Given the description of an element on the screen output the (x, y) to click on. 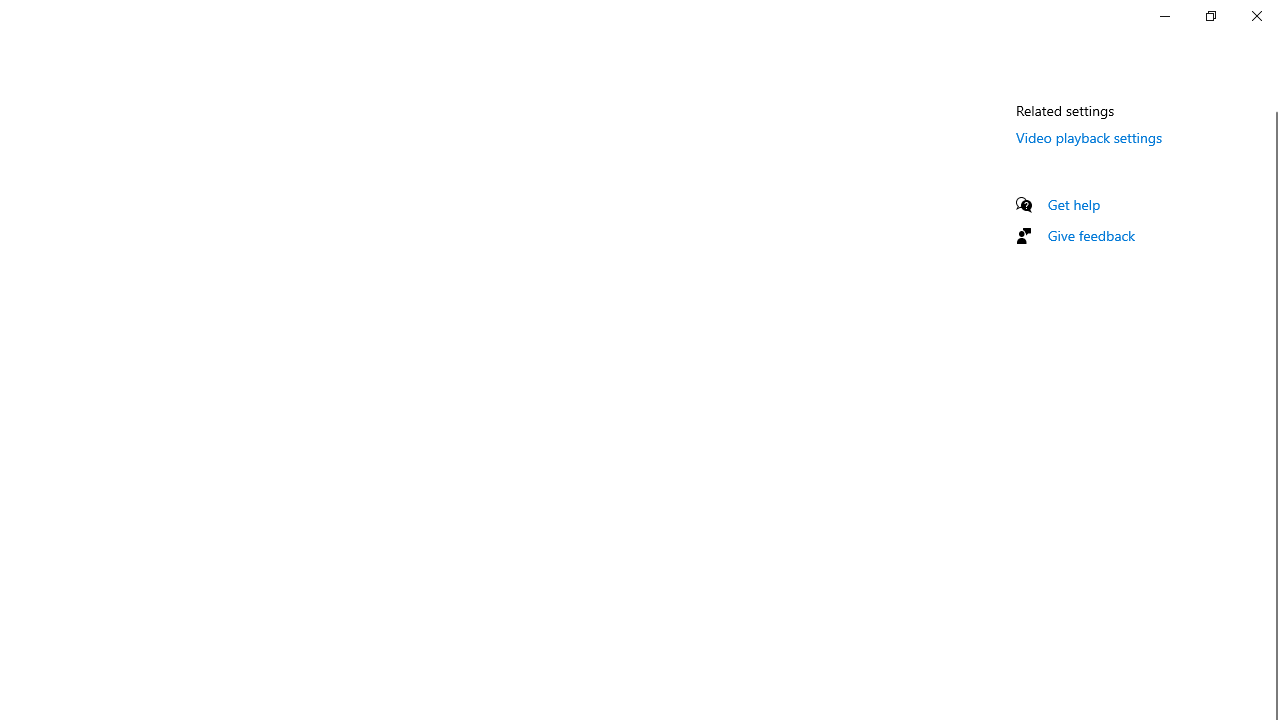
Get help (1074, 204)
Give feedback (1091, 235)
Vertical Small Decrease (1272, 103)
Video playback settings (1089, 137)
